Given the description of an element on the screen output the (x, y) to click on. 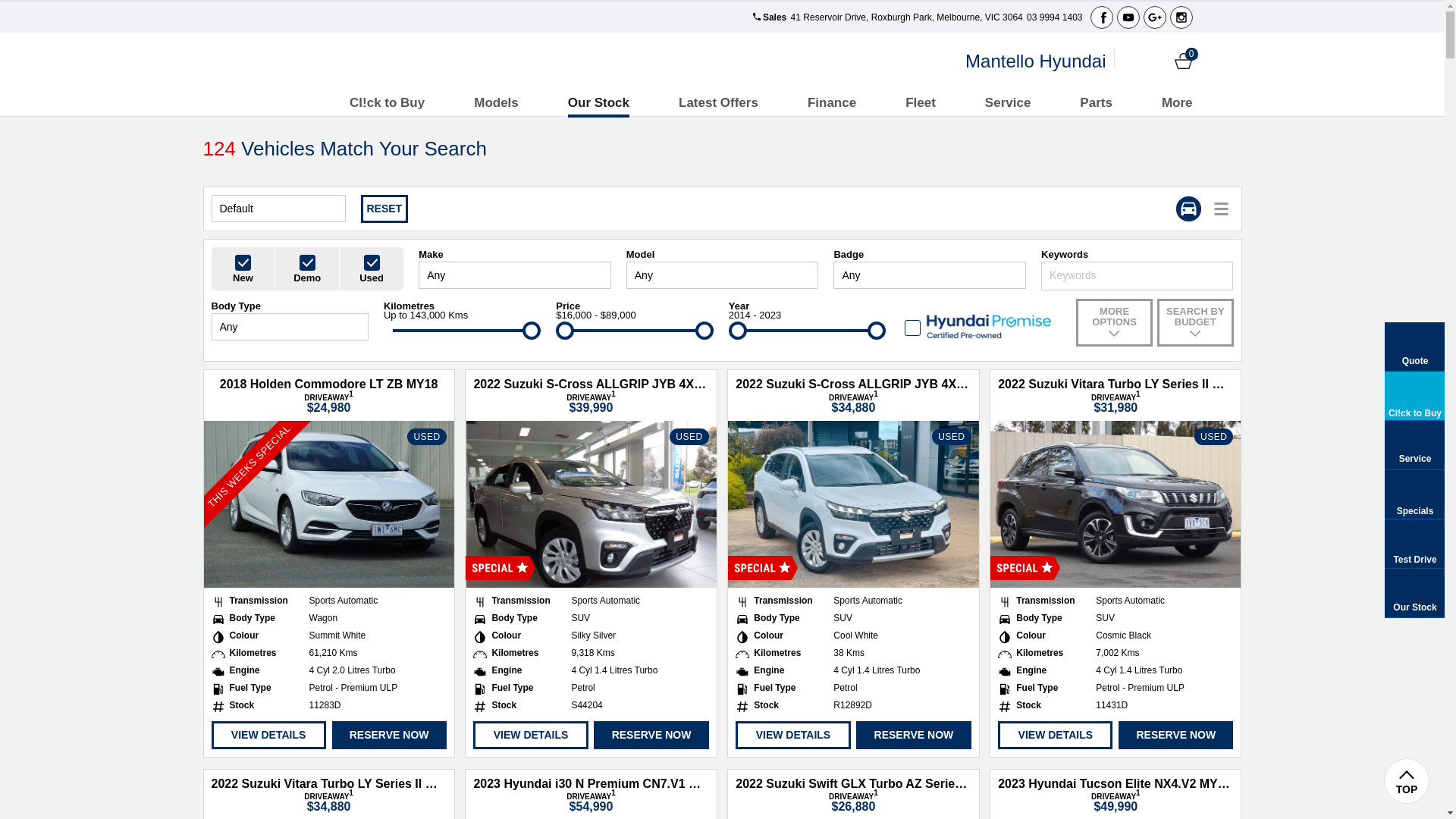
RESET Element type: text (384, 208)
VIEW DETAILS Element type: text (1054, 735)
Cl!ck to Buy Element type: text (386, 102)
03 9994 1403 Element type: text (1053, 17)
Parts Element type: text (1095, 102)
Fleet Element type: text (920, 102)
Latest Offers Element type: text (718, 102)
YouTube Element type: hover (1127, 17)
DRIVEAWAY1
$24,980 Element type: text (328, 402)
USED Element type: text (1115, 503)
DRIVEAWAY1
$26,880 Element type: text (853, 801)
Models Element type: text (495, 102)
Cart
0 Element type: text (1182, 61)
DRIVEAWAY1
$31,980 Element type: text (1115, 402)
Facebook Element type: hover (1101, 17)
Signup Element type: text (1157, 60)
DRIVEAWAY1
$34,880 Element type: text (853, 402)
Service Element type: text (1008, 102)
Our Stock Element type: text (598, 102)
USED Element type: text (853, 503)
Hyundai Motor Company Element type: text (313, 60)
More Element type: text (1176, 102)
Instagram Element type: hover (1180, 17)
MORE OPTIONS Element type: text (1113, 322)
RESERVE NOW Element type: text (389, 735)
RESERVE NOW Element type: text (650, 735)
DRIVEAWAY1
$39,990 Element type: text (590, 402)
Login Element type: text (1131, 60)
41 Reservoir Drive, Roxburgh Park, Melbourne, VIC 3064 Element type: text (905, 17)
USED
THIS WEEKS SPECIAL Element type: text (328, 503)
GooglePlus Element type: hover (1154, 17)
VIEW DETAILS Element type: text (792, 735)
VIEW DETAILS Element type: text (267, 735)
DRIVEAWAY1
$49,990 Element type: text (1115, 801)
SEARCH BY BUDGET Element type: text (1195, 322)
RESERVE NOW Element type: text (1175, 735)
RESERVE NOW Element type: text (913, 735)
USED Element type: text (590, 503)
DRIVEAWAY1
$54,990 Element type: text (590, 801)
DRIVEAWAY1
$34,880 Element type: text (328, 801)
VIEW DETAILS Element type: text (530, 735)
Finance Element type: text (831, 102)
TOP Element type: text (1406, 780)
